Given the description of an element on the screen output the (x, y) to click on. 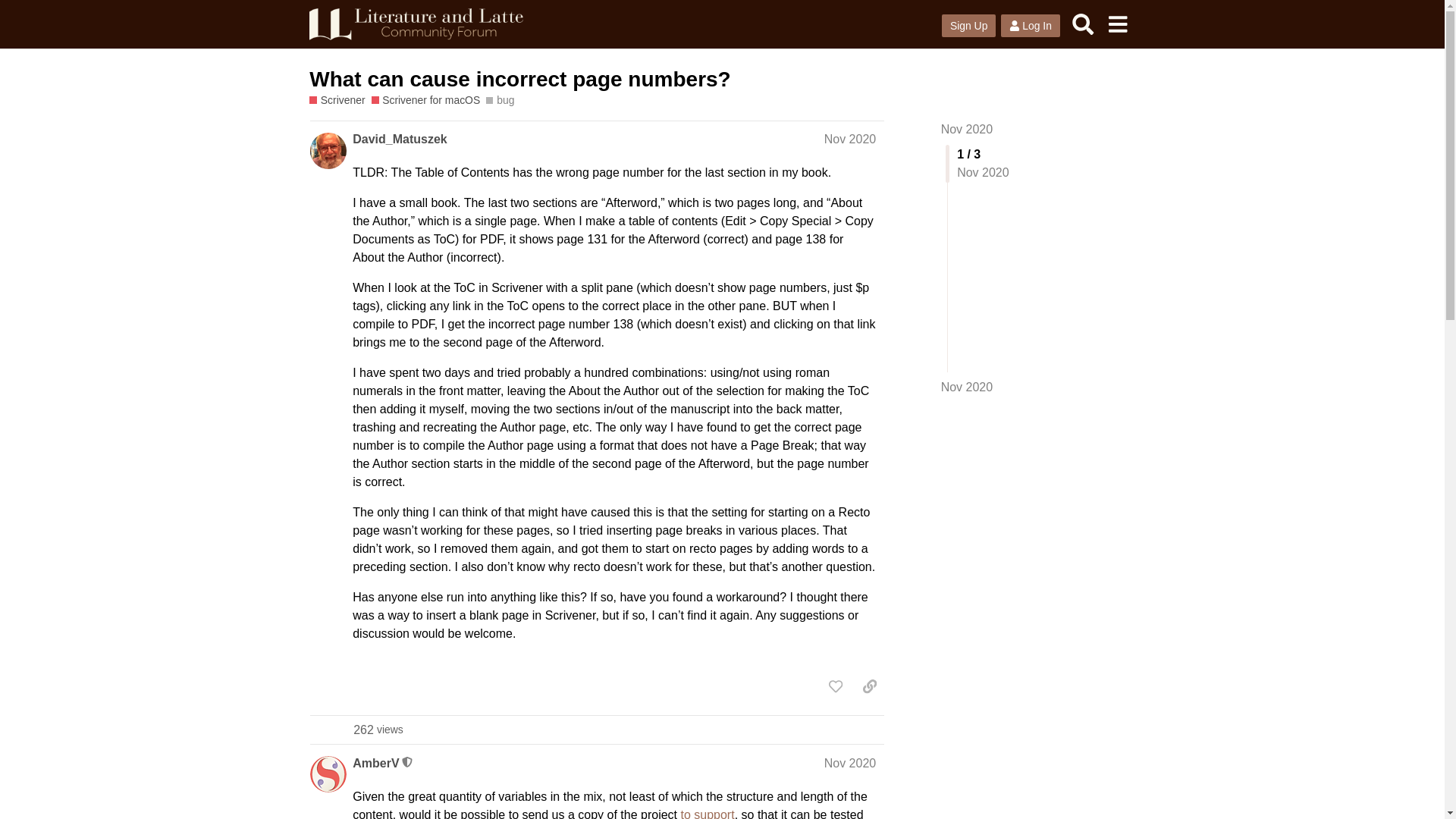
to support (706, 813)
menu (1117, 23)
Jump to the first post (966, 128)
copy a link to this post to clipboard (377, 729)
Nov 2020 (869, 686)
Sign Up (966, 387)
Post date (968, 25)
Ask for help, report bugs, or give feedback for Scrivener. (850, 138)
